Given the description of an element on the screen output the (x, y) to click on. 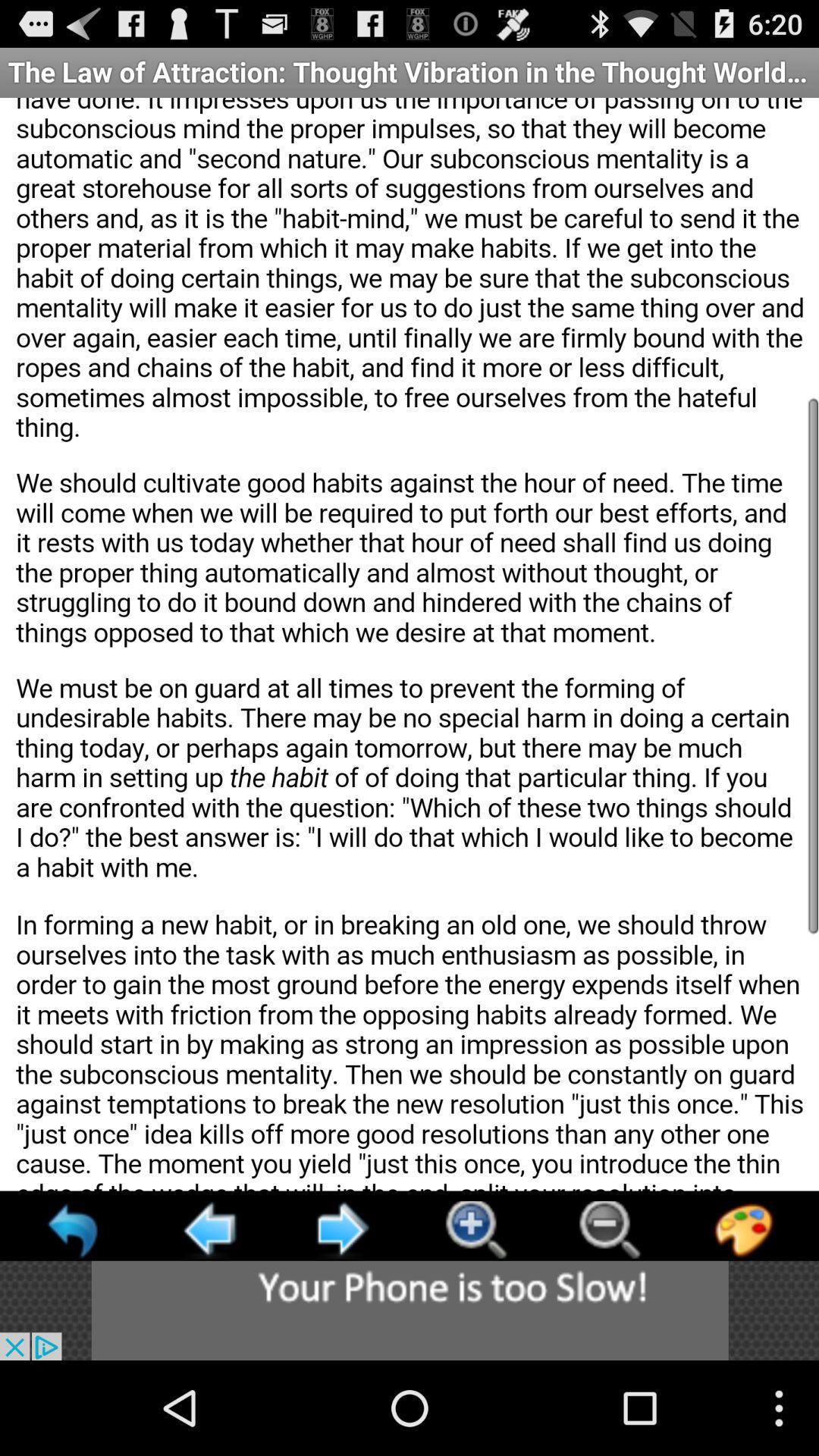
go to previous (74, 1229)
